Given the description of an element on the screen output the (x, y) to click on. 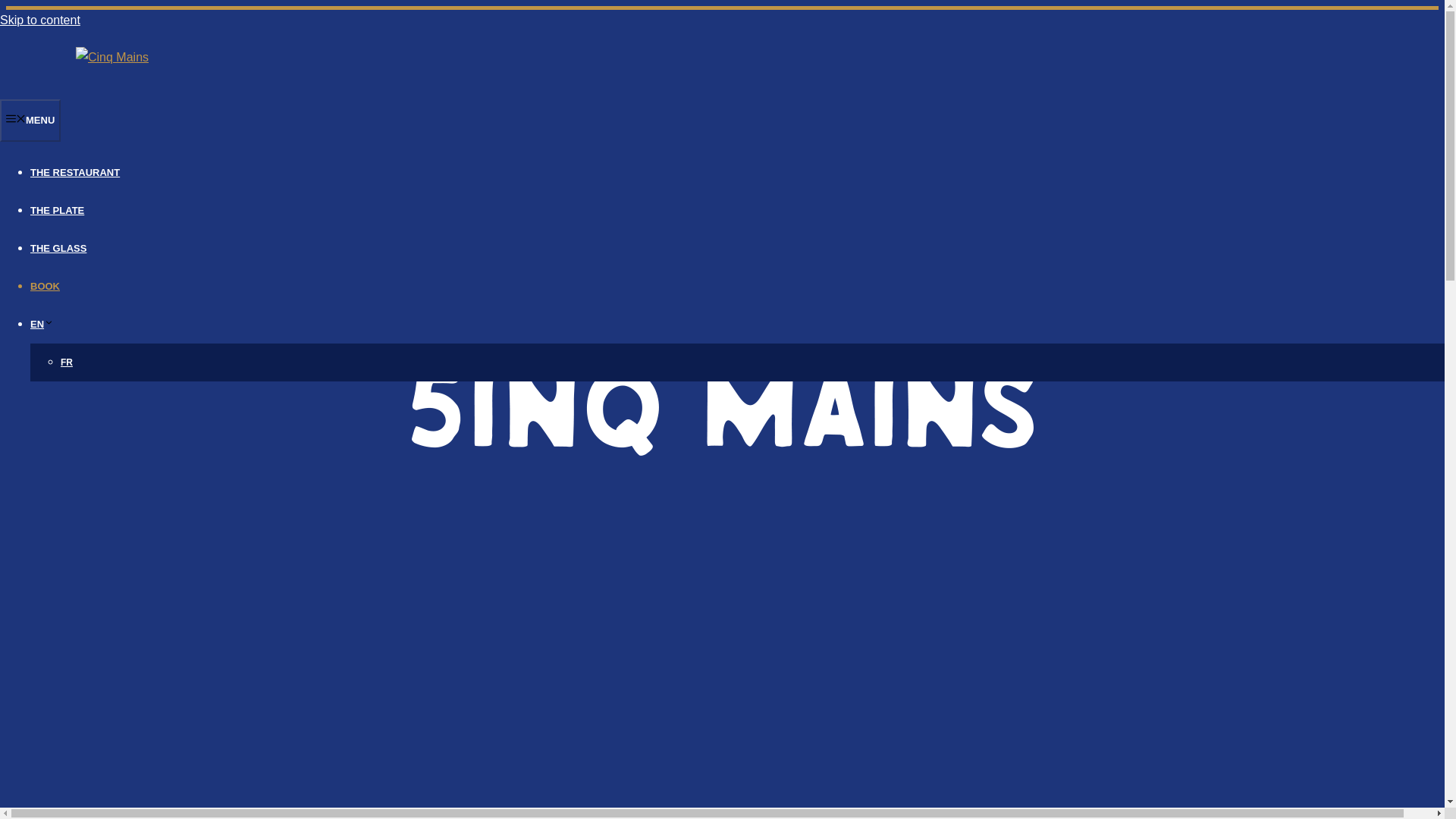
Cinq Mains (111, 56)
FR (66, 362)
Skip to content (40, 19)
EN (41, 324)
MENU (30, 120)
BOOK (44, 285)
Cinq Mains (111, 57)
THE GLASS (57, 247)
THE RESTAURANT (74, 172)
THE PLATE (57, 210)
